Given the description of an element on the screen output the (x, y) to click on. 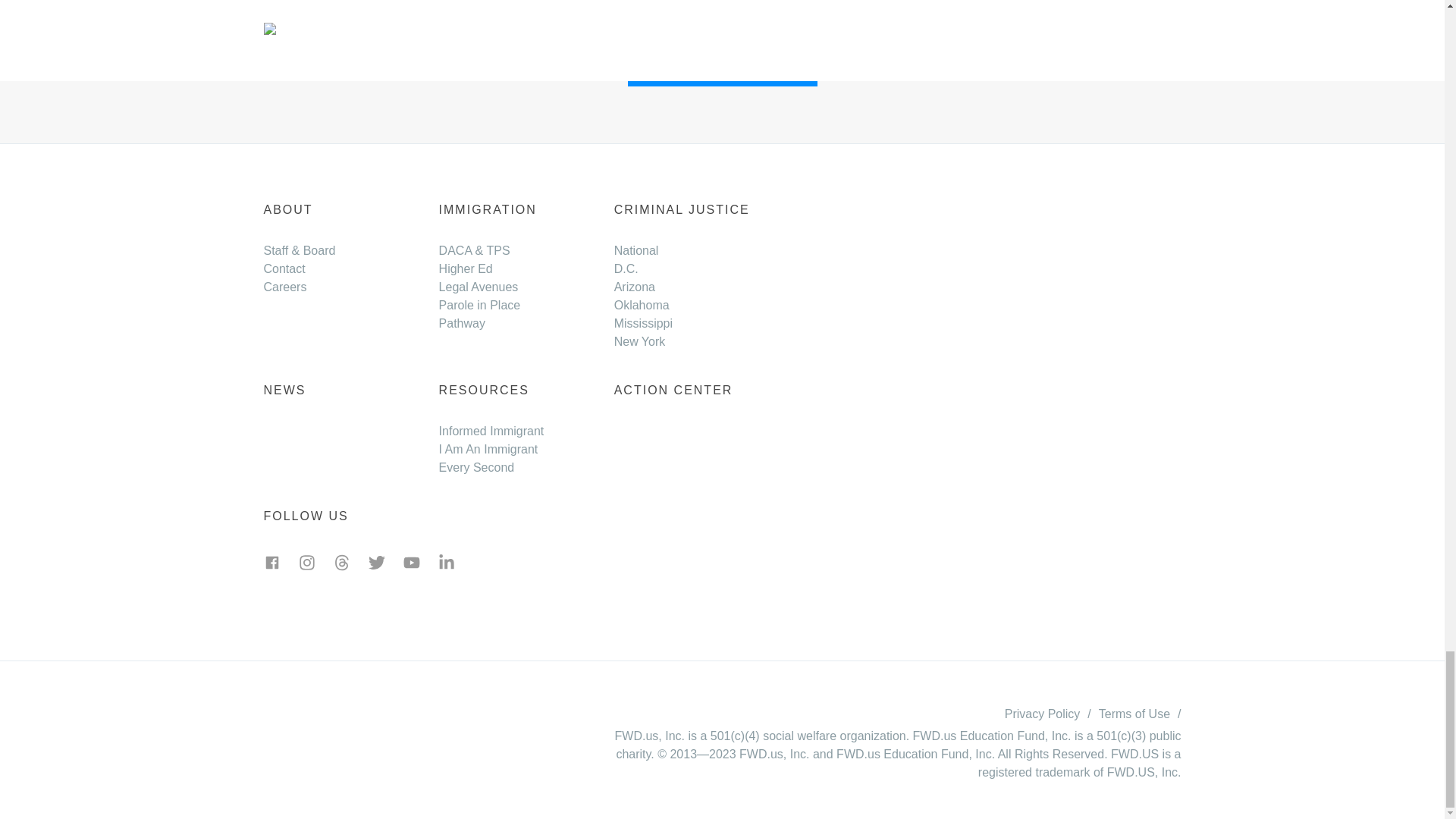
Informed Immigrant (491, 431)
D.C. (626, 268)
IMMIGRATION (488, 209)
New York (639, 341)
Contact (284, 268)
Mississippi (643, 323)
CRIMINAL JUSTICE (681, 209)
Arizona (634, 286)
National (636, 250)
NEWS (284, 390)
